Given the description of an element on the screen output the (x, y) to click on. 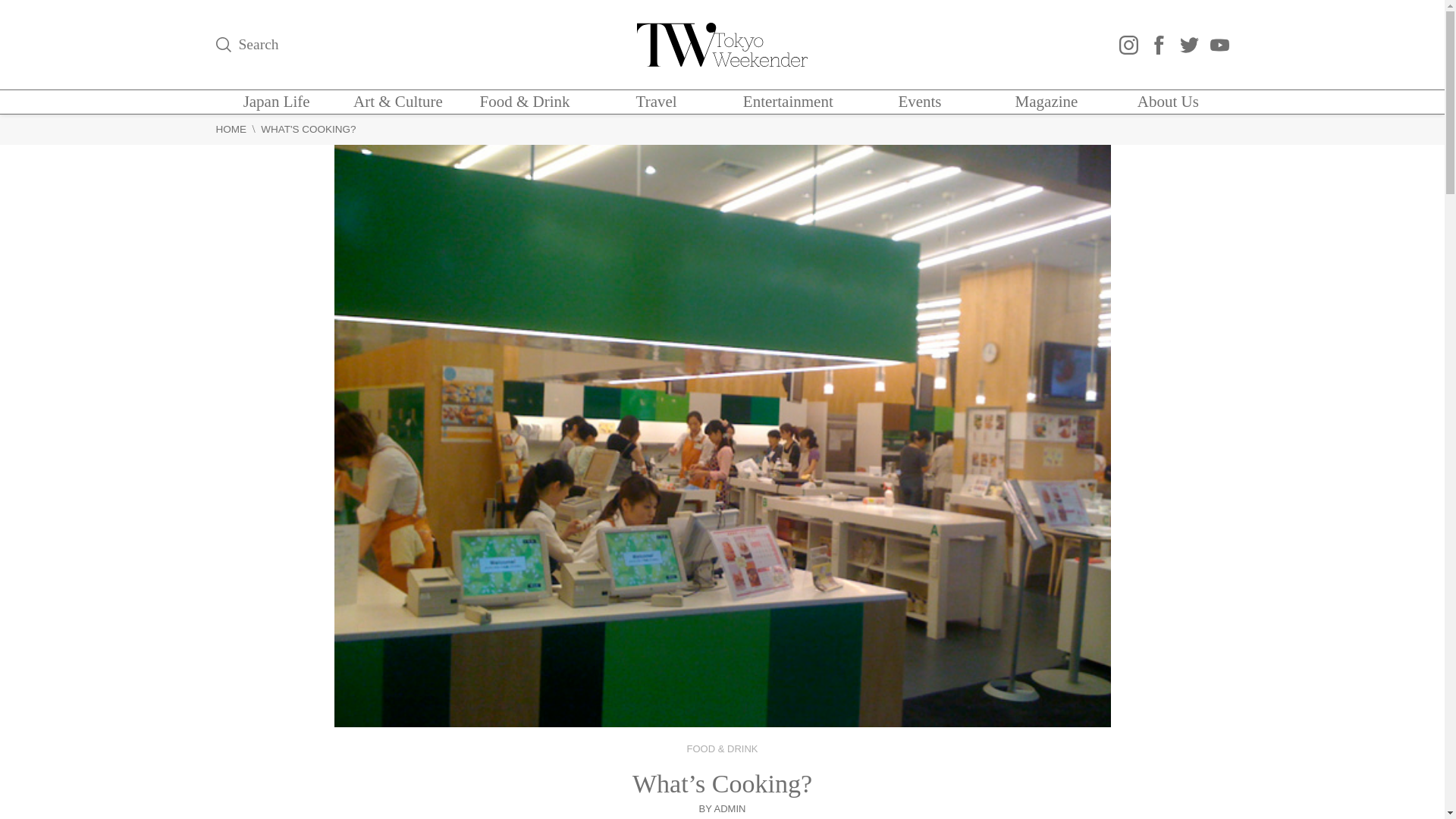
Entertainment (787, 101)
Magazine (1046, 101)
Travel (656, 101)
Japan Life (276, 101)
About Us (1167, 101)
Events (919, 101)
